Given the description of an element on the screen output the (x, y) to click on. 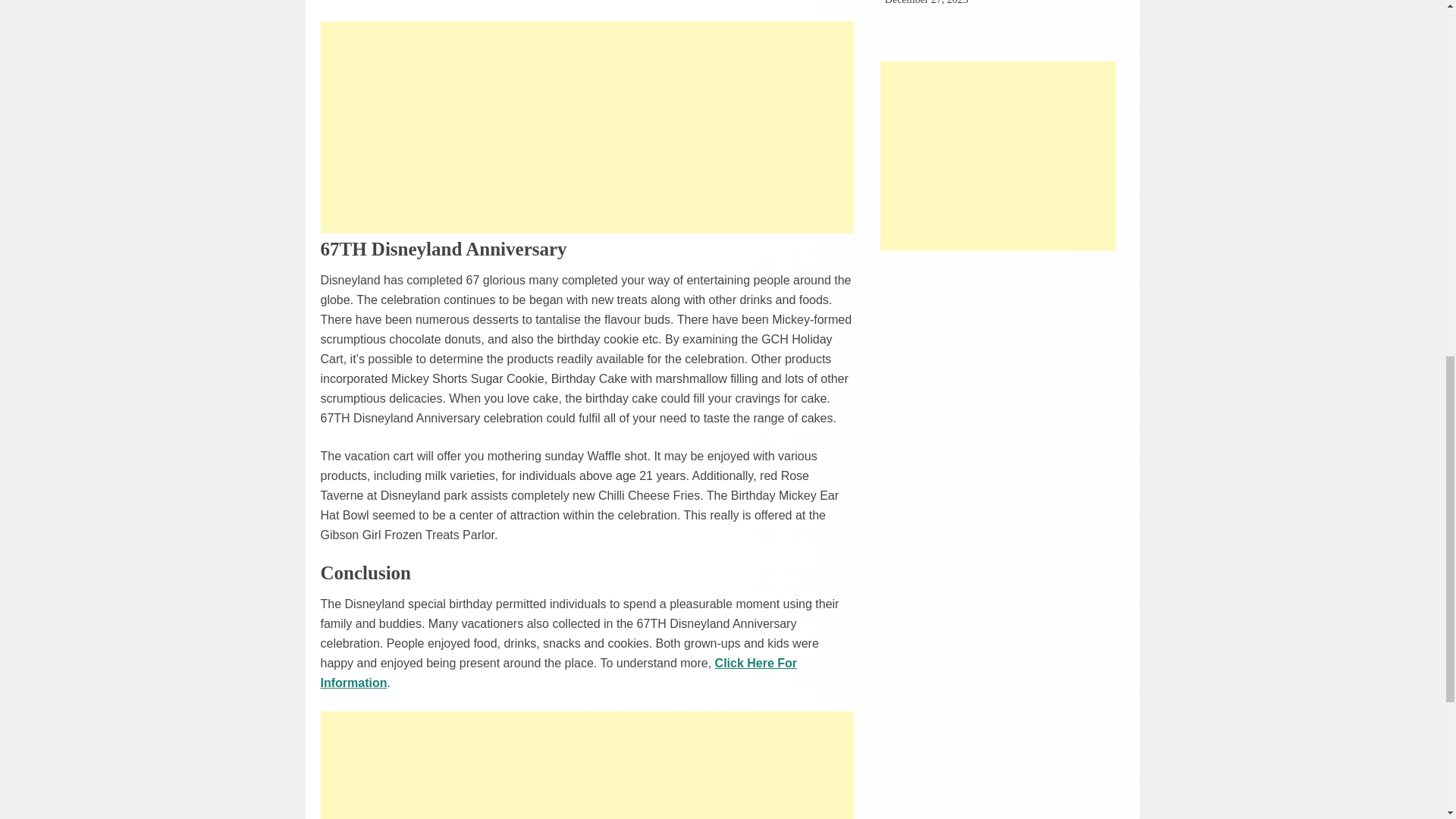
Click Here For Information (558, 672)
Advertisement (586, 765)
Advertisement (586, 127)
Advertisement (998, 155)
